Given the description of an element on the screen output the (x, y) to click on. 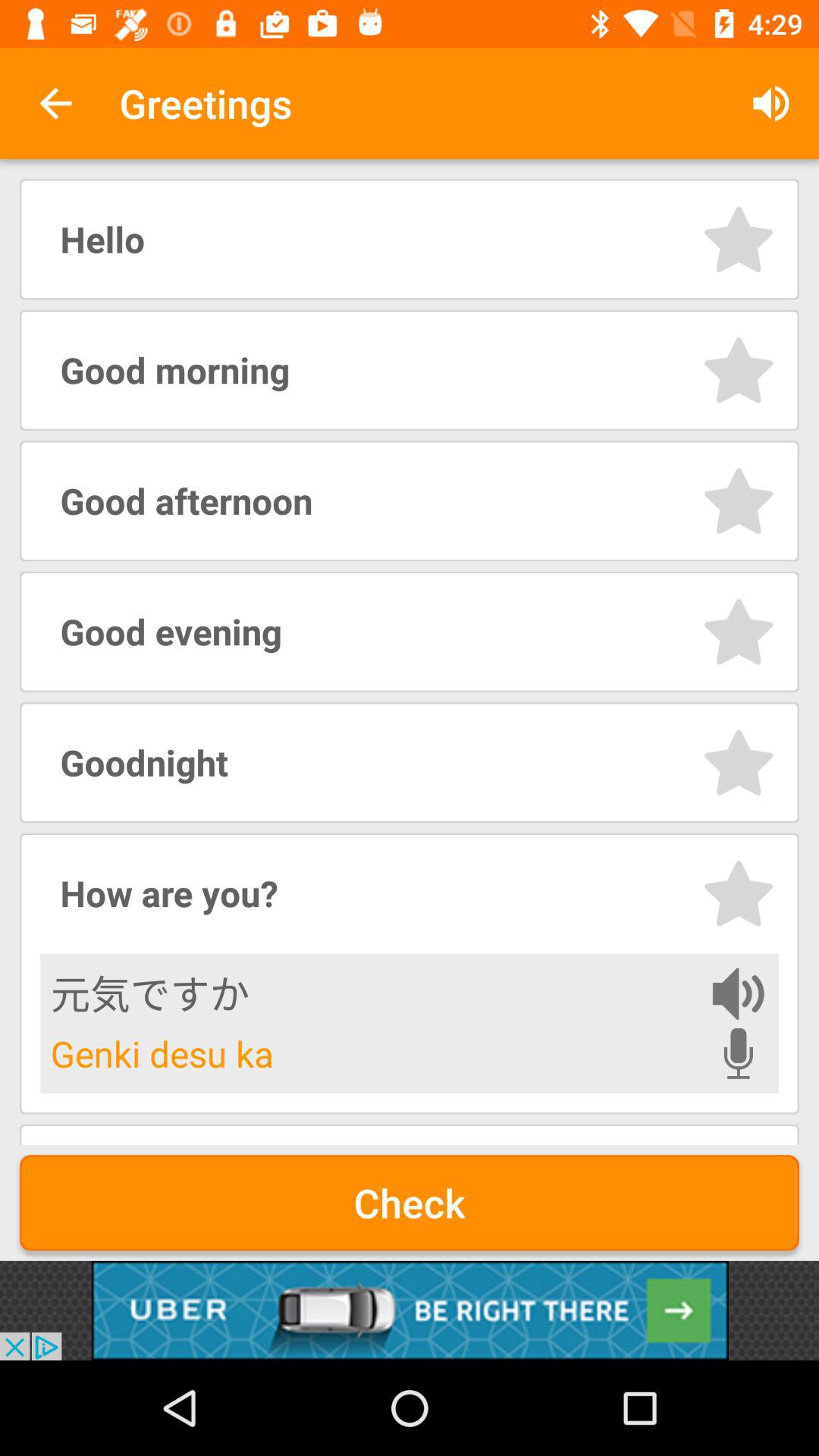
like item (738, 239)
